Given the description of an element on the screen output the (x, y) to click on. 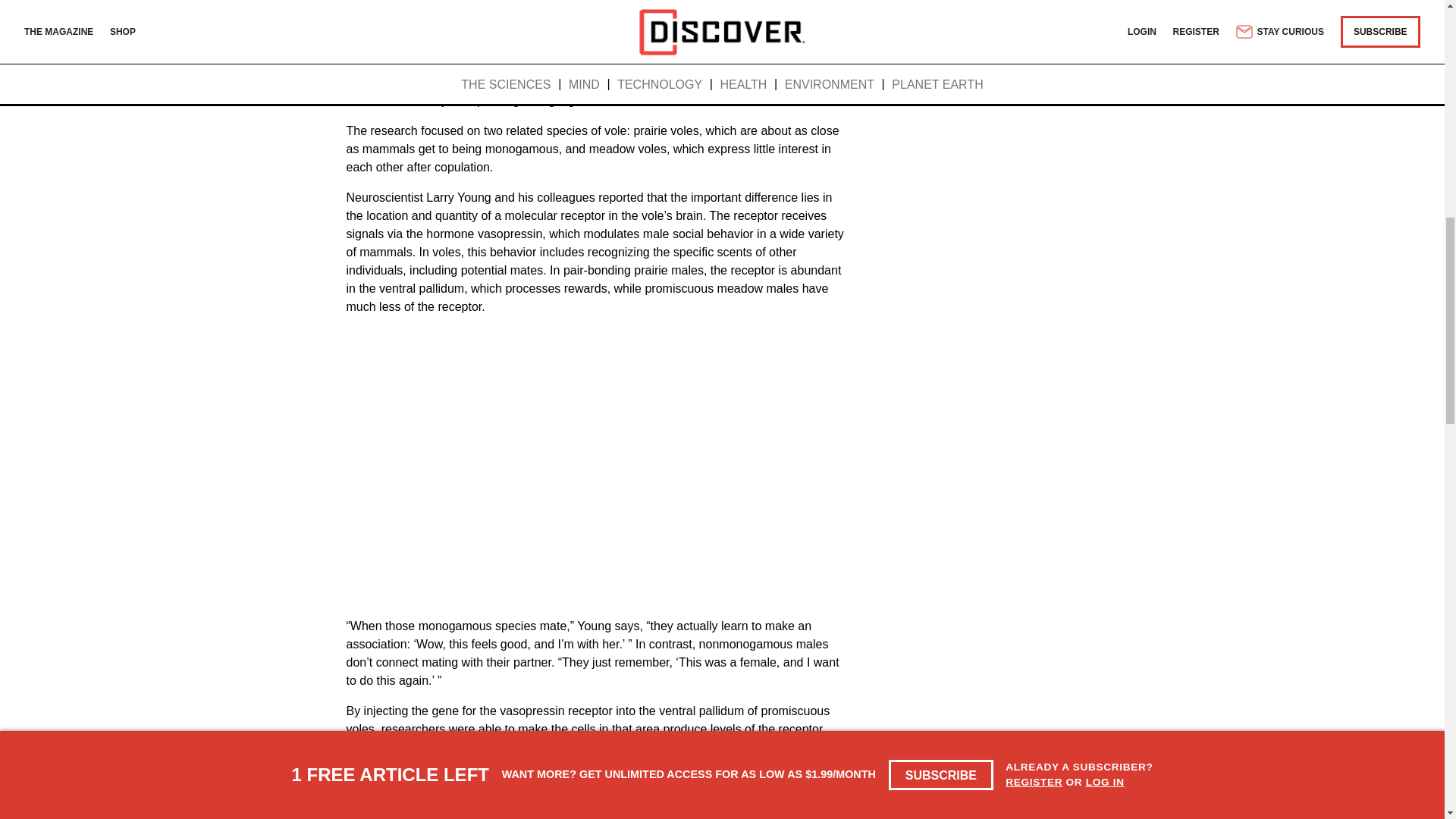
Audio Article (590, 21)
